Given the description of an element on the screen output the (x, y) to click on. 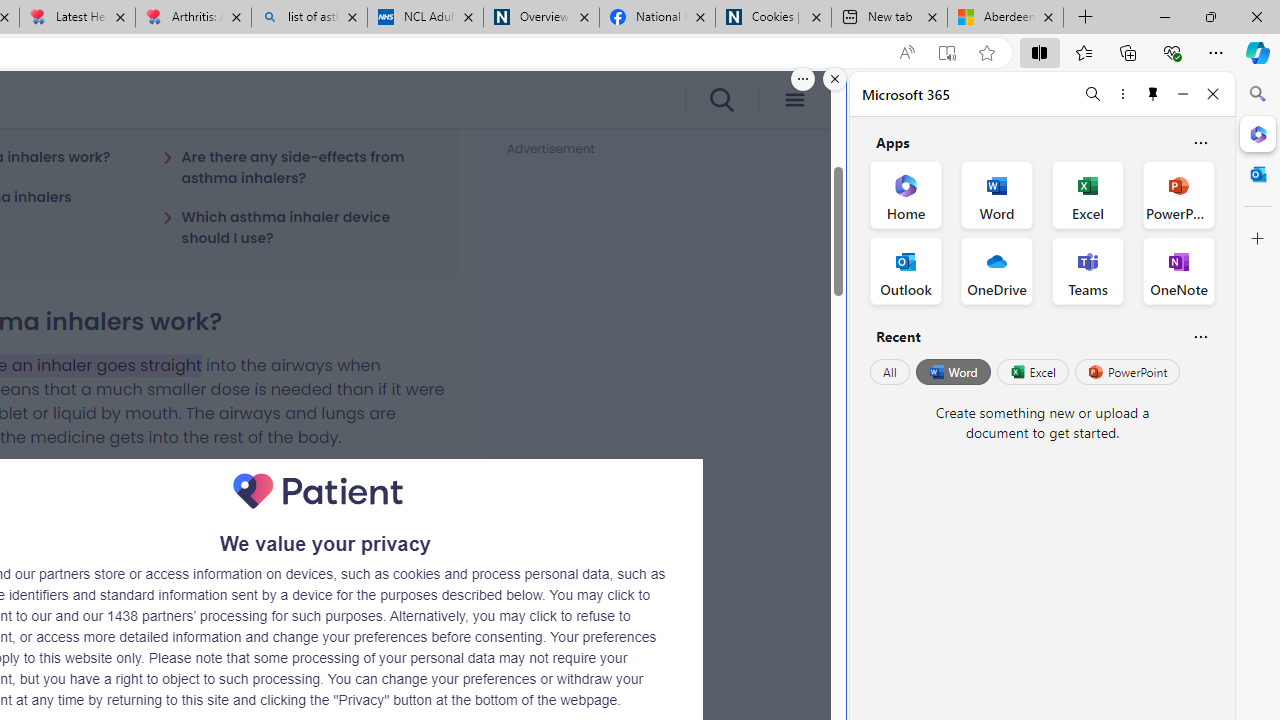
Home Office App (906, 194)
Close split screen. (835, 79)
Are there any side-effects from asthma inhalers? (298, 167)
PowerPoint Office App (1178, 194)
More options. (803, 79)
Teams Office App (1087, 270)
OneDrive Office App (996, 270)
Favorites (1083, 52)
Close Customize pane (1258, 239)
Arthritis: Ask Health Professionals (192, 17)
